Given the description of an element on the screen output the (x, y) to click on. 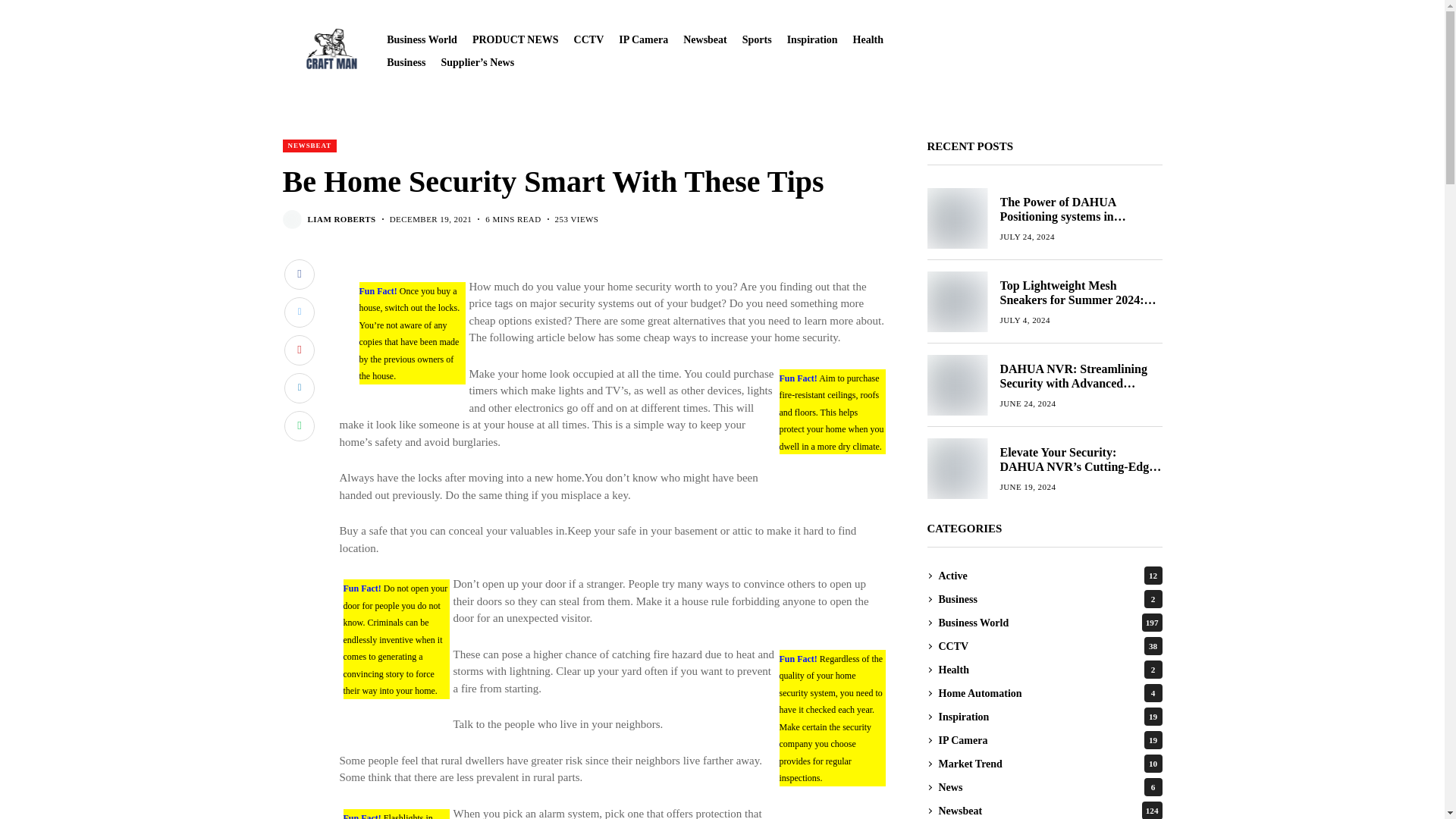
IP Camera (643, 39)
Health (868, 39)
Inspiration (812, 39)
Newsbeat (704, 39)
Sports (756, 39)
CCTV (588, 39)
Posts by Liam Roberts (341, 219)
Business (406, 61)
